Given the description of an element on the screen output the (x, y) to click on. 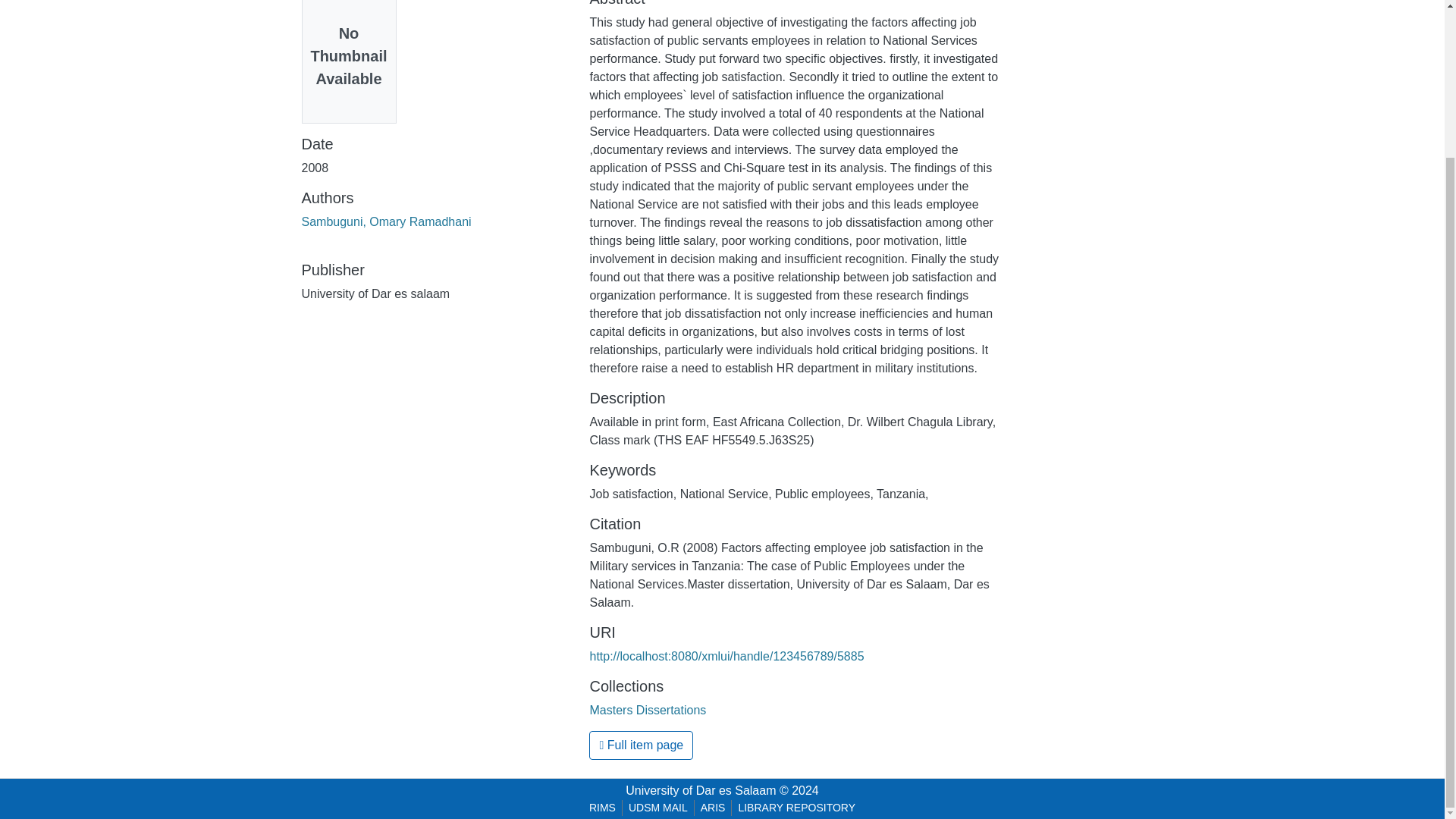
Masters Dissertations (647, 709)
ARIS (713, 807)
LIBRARY REPOSITORY (796, 807)
Sambuguni, Omary Ramadhani (386, 221)
Full item page (641, 745)
RIMS (602, 807)
UDSM MAIL (658, 807)
